Given the description of an element on the screen output the (x, y) to click on. 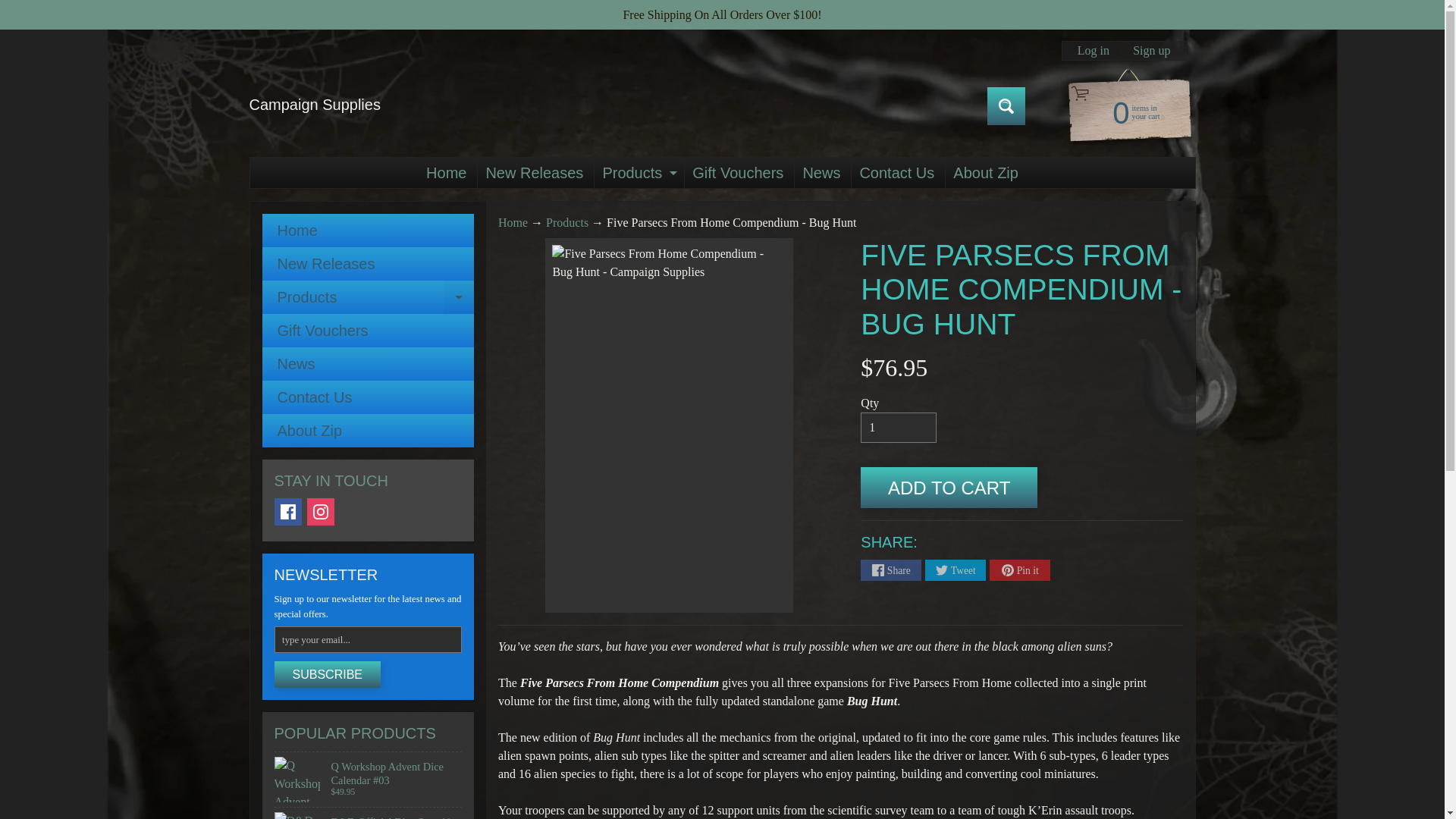
Campaign Supplies (314, 104)
SKIP TO CONTENT (368, 296)
Sign up (22, 8)
About Zip (1151, 50)
Home (985, 173)
Search (368, 230)
Pin on Pinterest (637, 173)
Campaign Supplies (1122, 111)
Contact Us (1006, 105)
Log in (1019, 569)
Facebook (314, 104)
Back to the home page (896, 173)
